Given the description of an element on the screen output the (x, y) to click on. 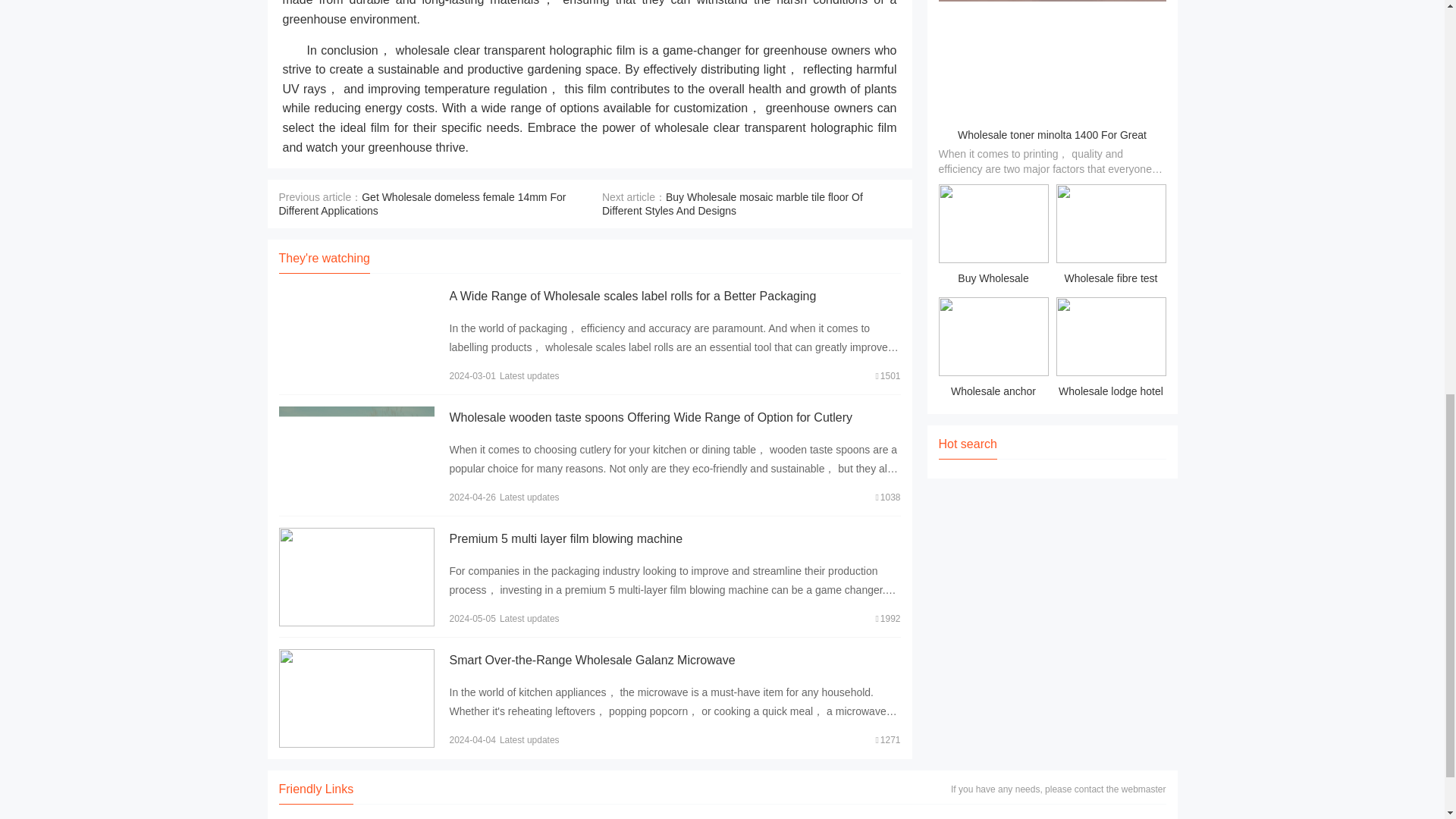
Wholesale fibre test instrument To Test Electronic Equipment (1110, 236)
Premium 5 multi layer film blowing machine (565, 538)
Wholesale lodge hotel Including Disposable Accessories (1110, 349)
Wholesale anchor industries Designed For Concrete Masonry (993, 349)
Smart Over-the-Range Wholesale Galanz Microwave (591, 659)
Buy Wholesale biomass to bio oil As It Is Energy Efficient (993, 236)
